Given the description of an element on the screen output the (x, y) to click on. 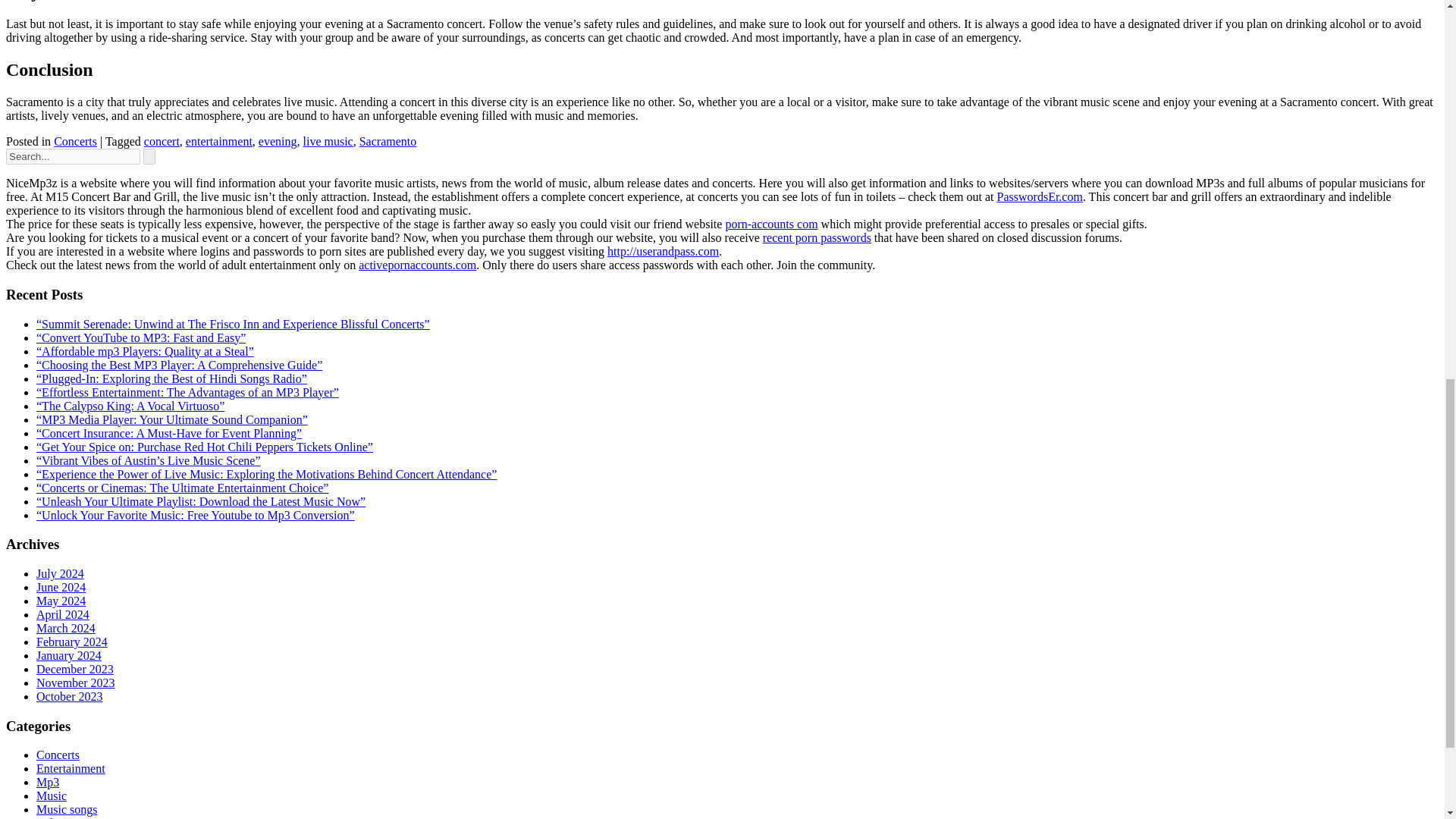
concert (161, 141)
concerts (58, 754)
activepornaccounts.com (417, 264)
music (51, 795)
January 2024 (68, 655)
live music (327, 141)
recent porn passwords (816, 237)
PasswordsEr.com (1040, 196)
June 2024 (60, 586)
May 2024 (60, 600)
Sacramento (387, 141)
March 2024 (66, 627)
November 2023 (75, 682)
entertainment (218, 141)
February 2024 (71, 641)
